Given the description of an element on the screen output the (x, y) to click on. 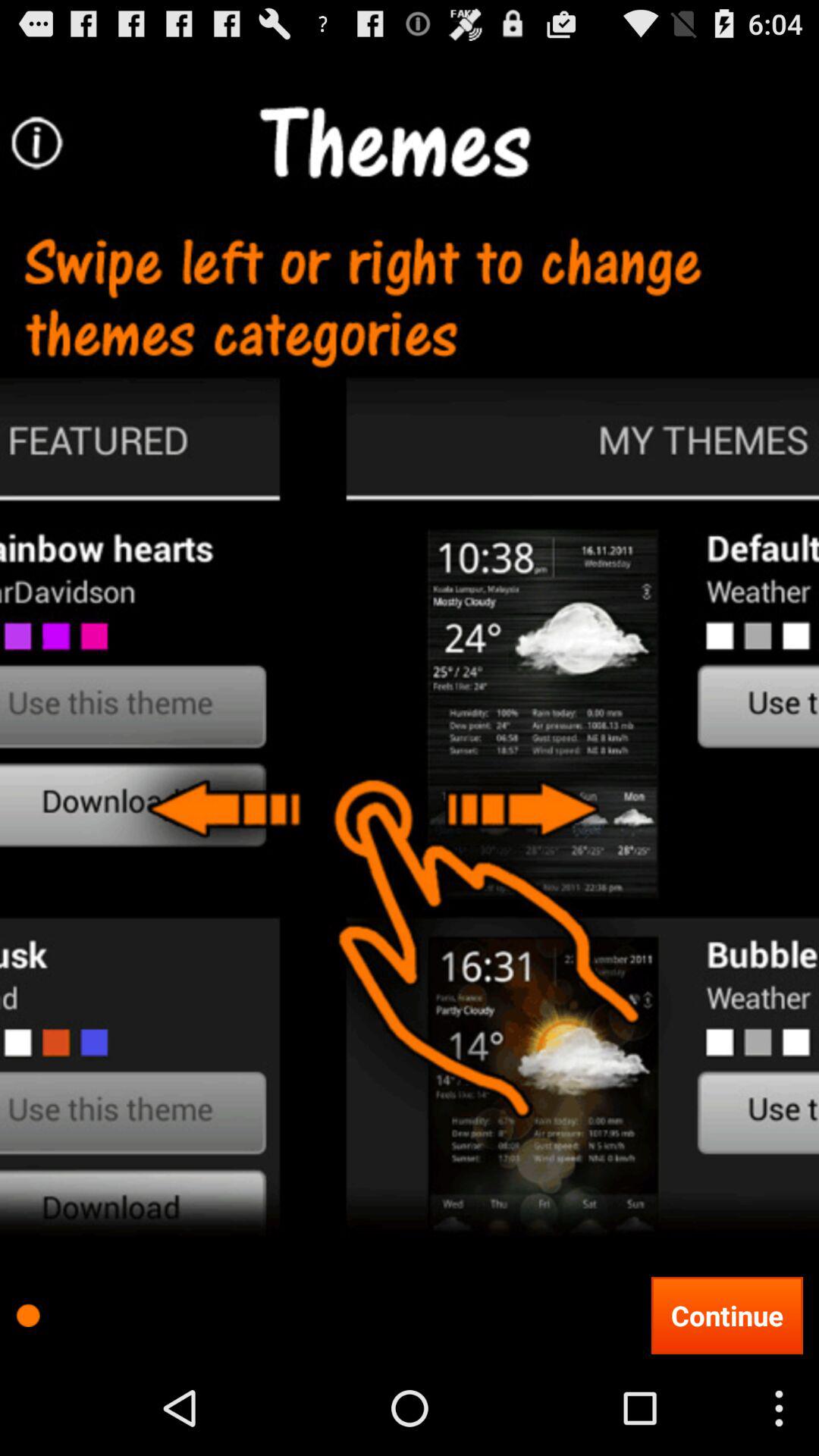
turn off continue at the bottom right corner (727, 1315)
